Given the description of an element on the screen output the (x, y) to click on. 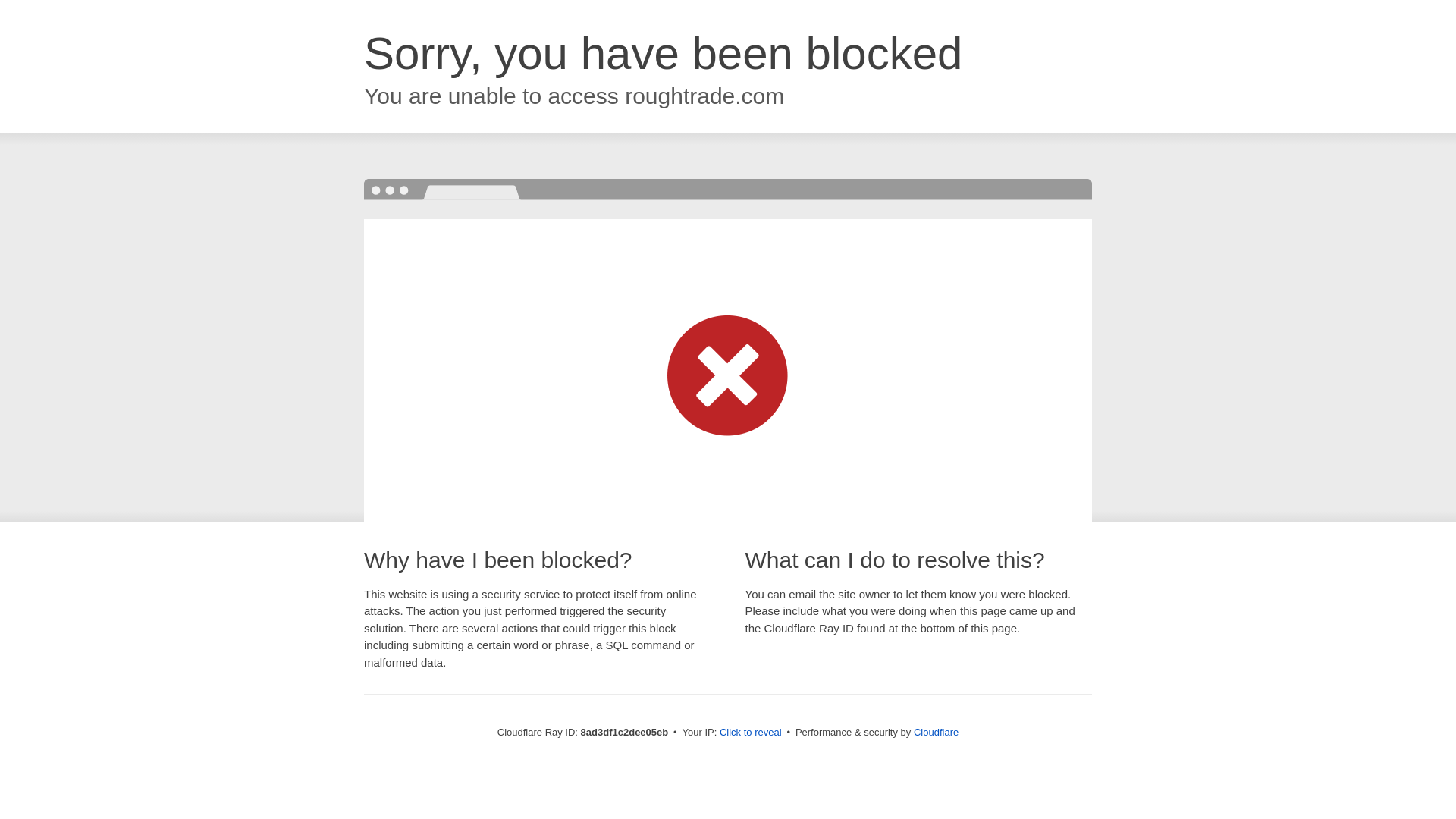
Cloudflare (936, 731)
Click to reveal (750, 732)
